Given the description of an element on the screen output the (x, y) to click on. 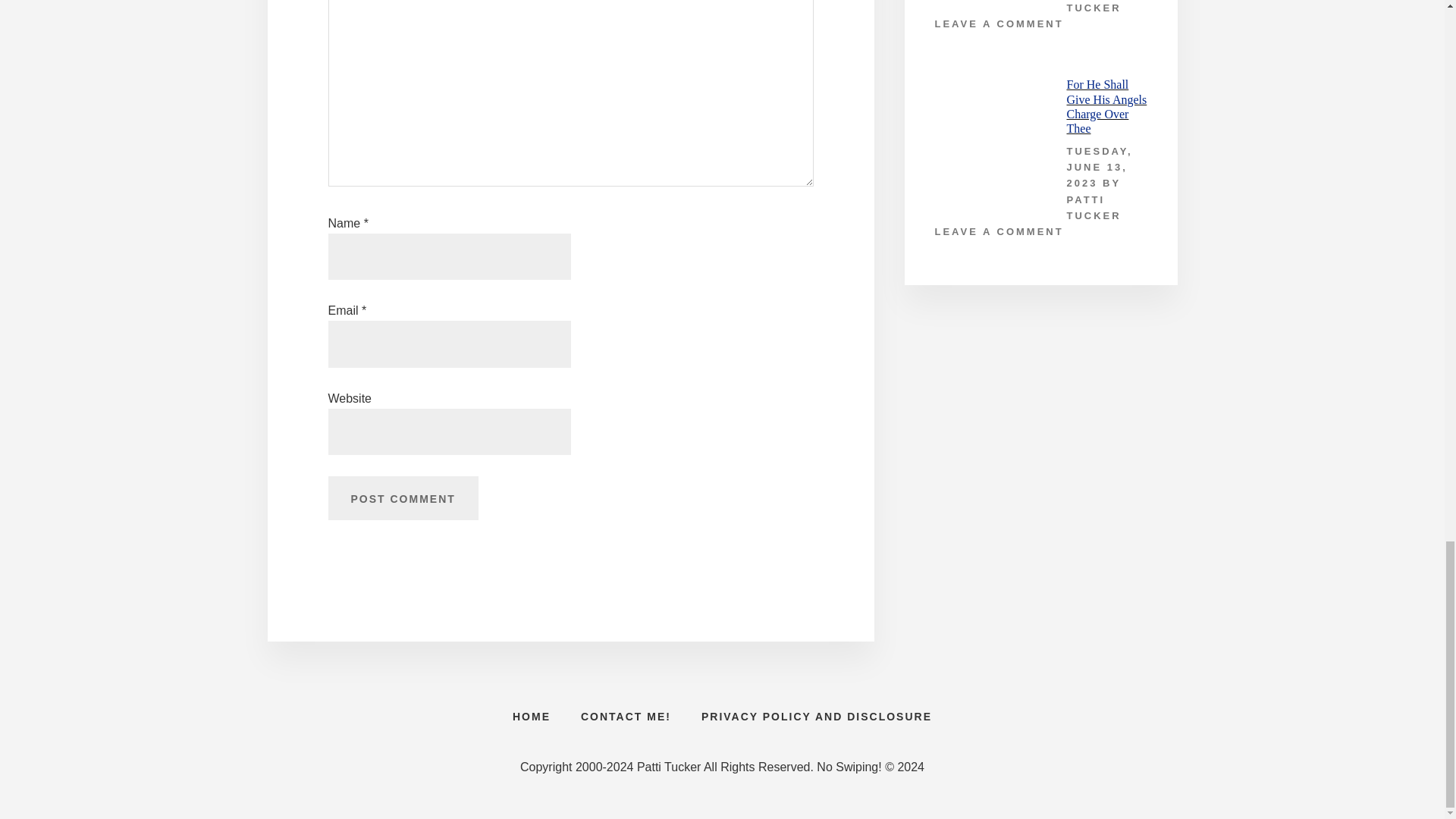
LEAVE A COMMENT (998, 23)
For He Shall Give His Angels Charge Over Thee (1106, 106)
HOME (531, 716)
PATTI TUCKER (1093, 6)
Post Comment (402, 497)
Post Comment (402, 497)
PATTI TUCKER (1093, 207)
LEAVE A COMMENT (998, 231)
